Given the description of an element on the screen output the (x, y) to click on. 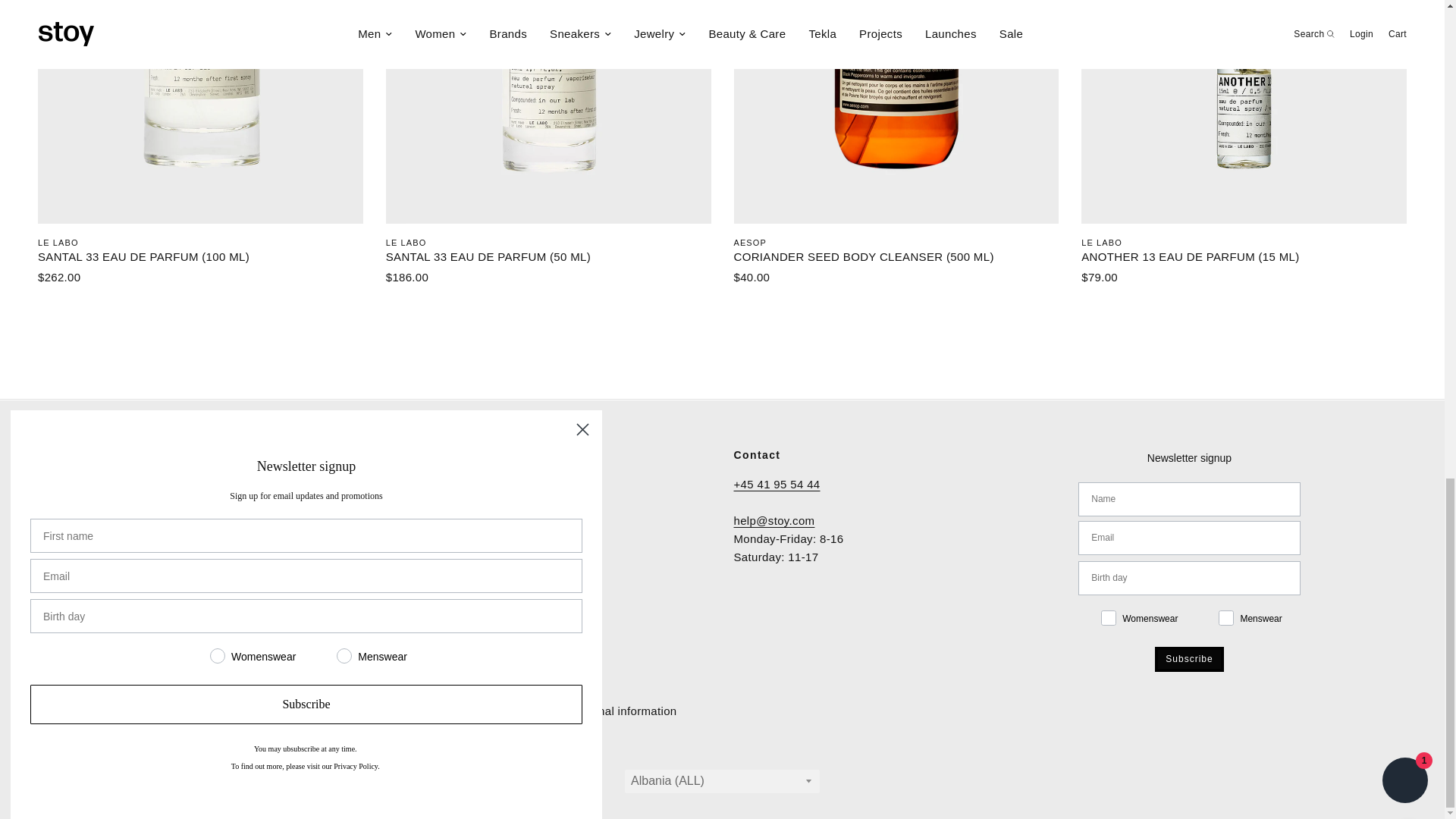
on (1203, 617)
on (1085, 617)
